Given the description of an element on the screen output the (x, y) to click on. 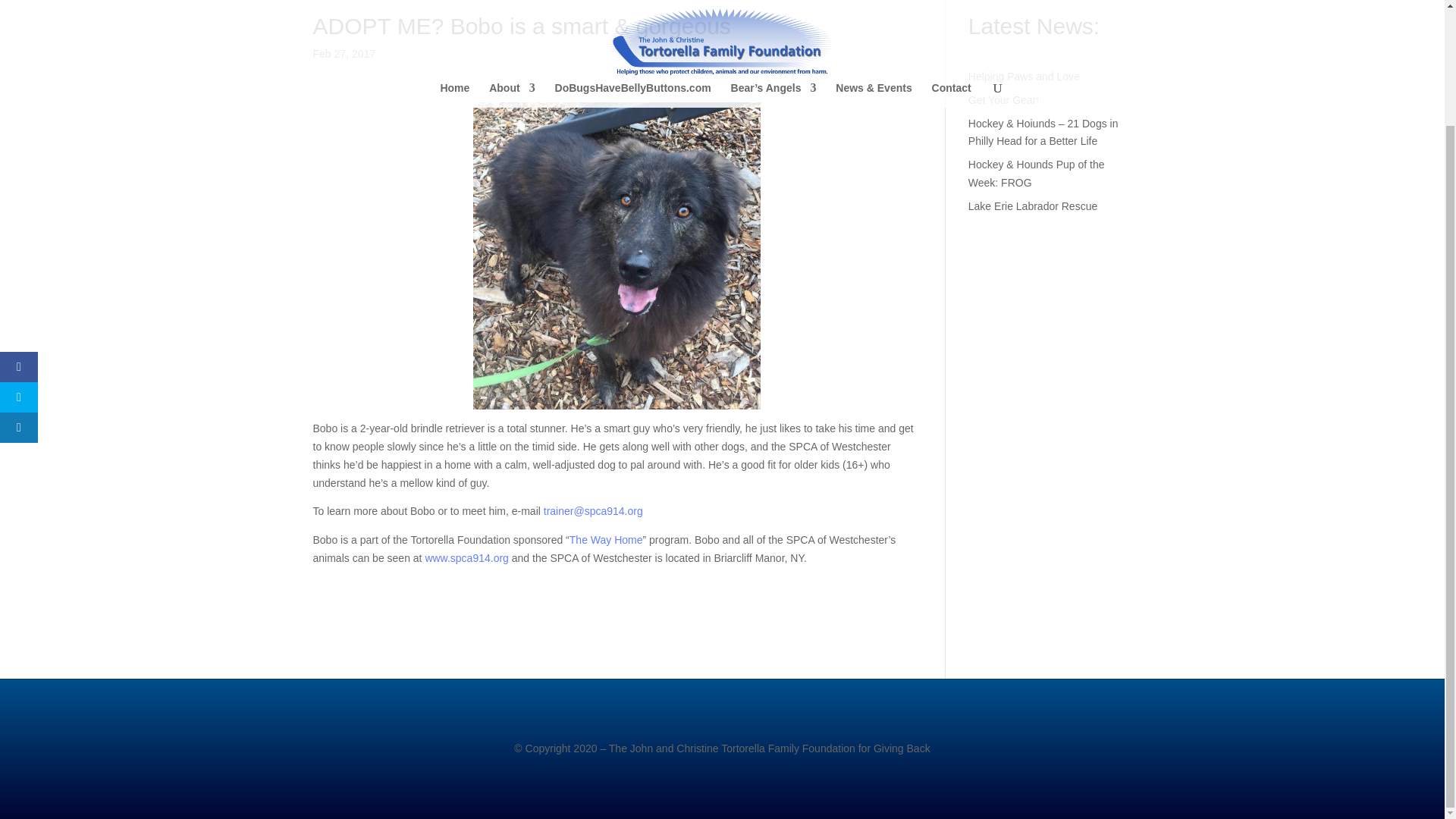
www.spca914.org (466, 558)
Lake Erie Labrador Rescue (1032, 205)
The Way Home (606, 539)
Get Your Gear! (1003, 100)
Helping Paws and Love (1024, 76)
